Given the description of an element on the screen output the (x, y) to click on. 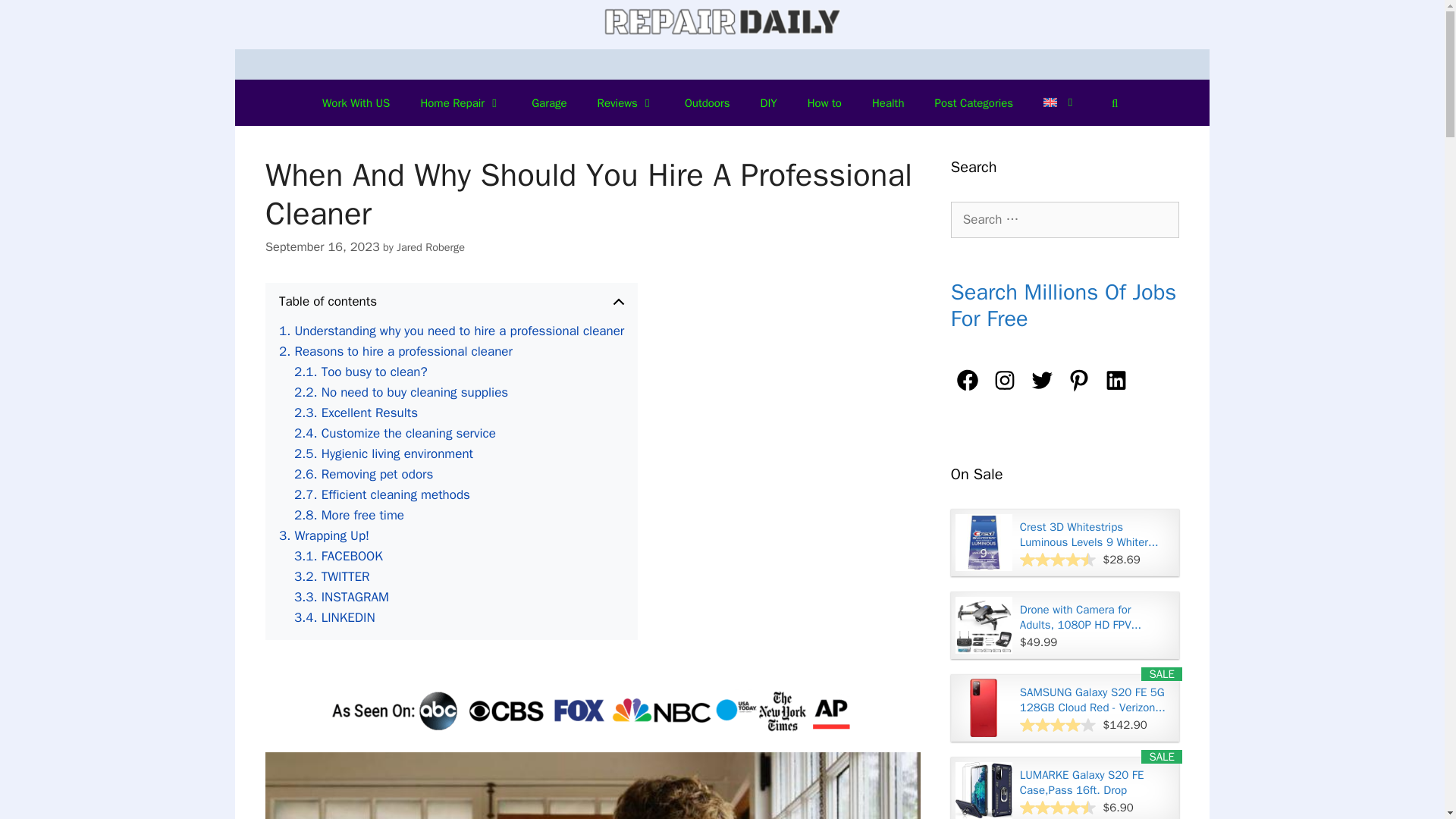
Reasons to hire a professional cleaner (395, 351)
How to (824, 103)
Work With US (355, 103)
Excellent Results (355, 412)
Health (888, 103)
Efficient cleaning methods (382, 494)
Too busy to clean? (361, 371)
Outdoors (707, 103)
Understanding why you need to hire a professional cleaner (451, 331)
Hygienic living environment (383, 453)
Home Repair (460, 103)
More free time (349, 515)
View all posts by Jared Roberge (430, 246)
No need to buy cleaning supplies (401, 392)
